Given the description of an element on the screen output the (x, y) to click on. 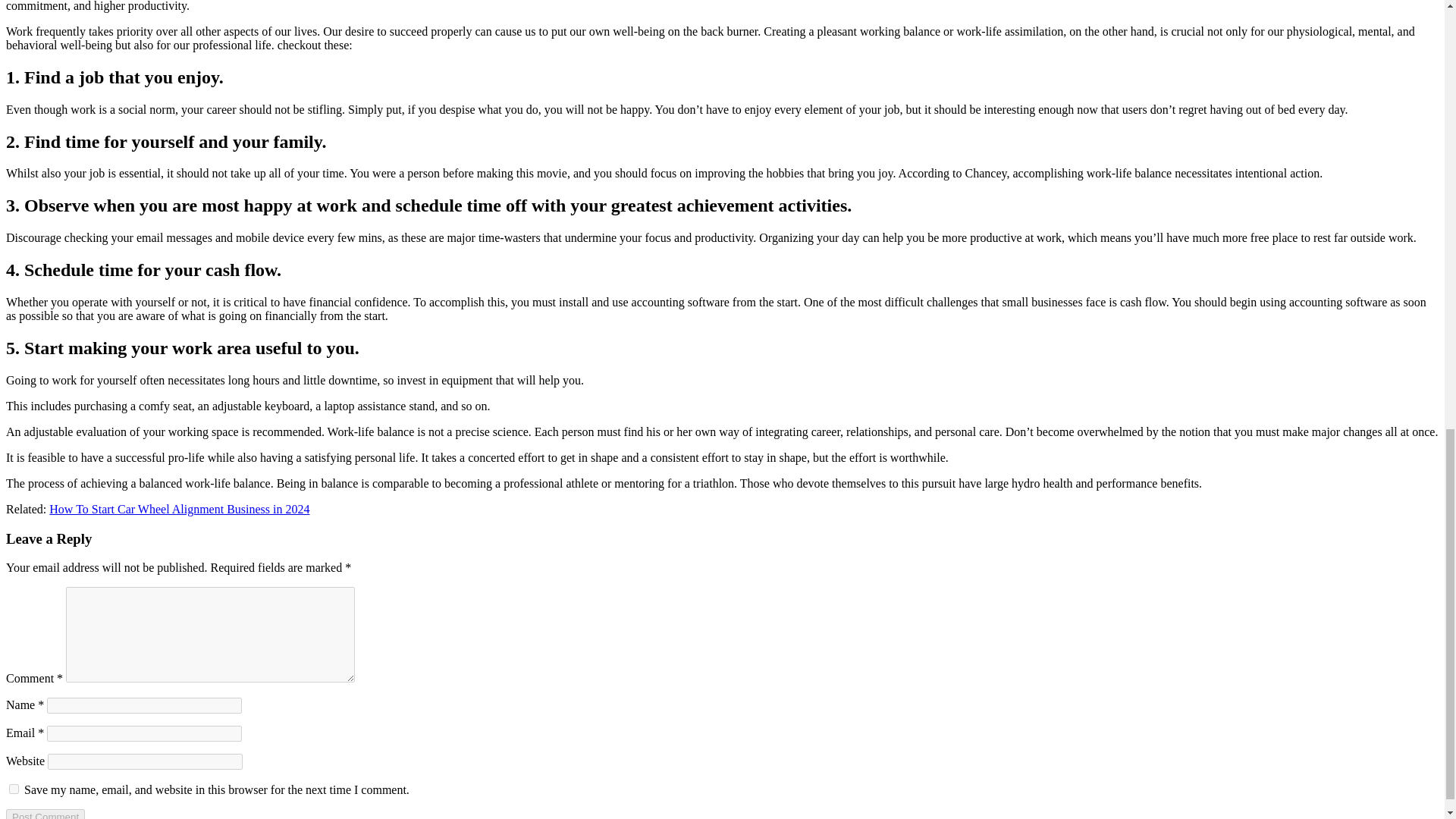
yes (13, 788)
How To Start Car Wheel Alignment Business in 2024 (178, 508)
